Given the description of an element on the screen output the (x, y) to click on. 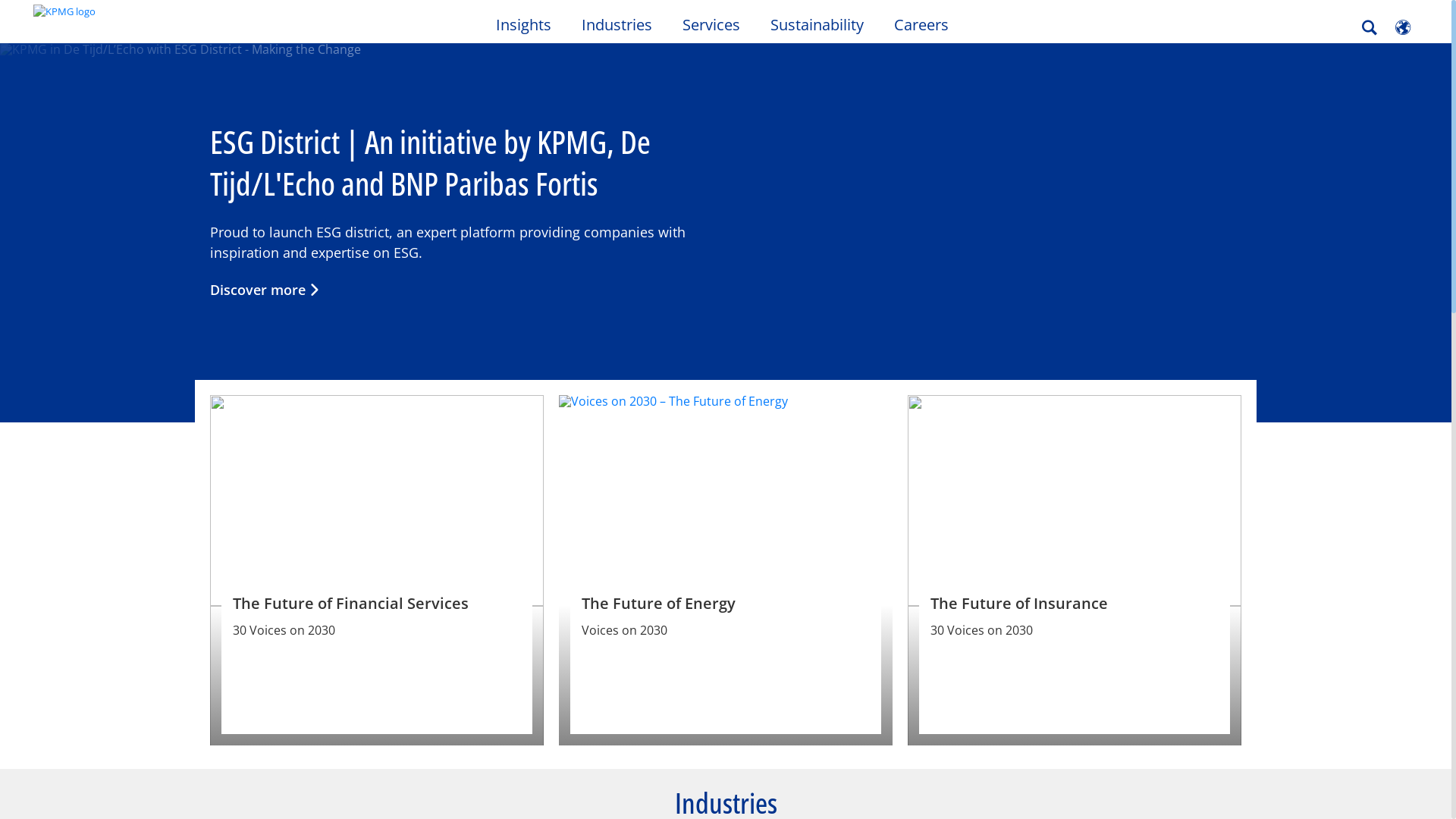
Services Element type: text (711, 22)
Insights Element type: text (523, 22)
Careers Element type: text (920, 22)
The Future of Insurance
30 Voices on 2030 Element type: text (1074, 570)
Search Element type: hover (1369, 26)
Industries Element type: text (615, 22)
The Future of Energy
Voices on 2030 Element type: text (725, 570)
Discover more Element type: text (265, 290)
The Future of Financial Services
30 Voices on 2030 Element type: text (376, 570)
Sustainability Element type: text (816, 22)
Site Selector Element type: hover (1402, 26)
